Given the description of an element on the screen output the (x, y) to click on. 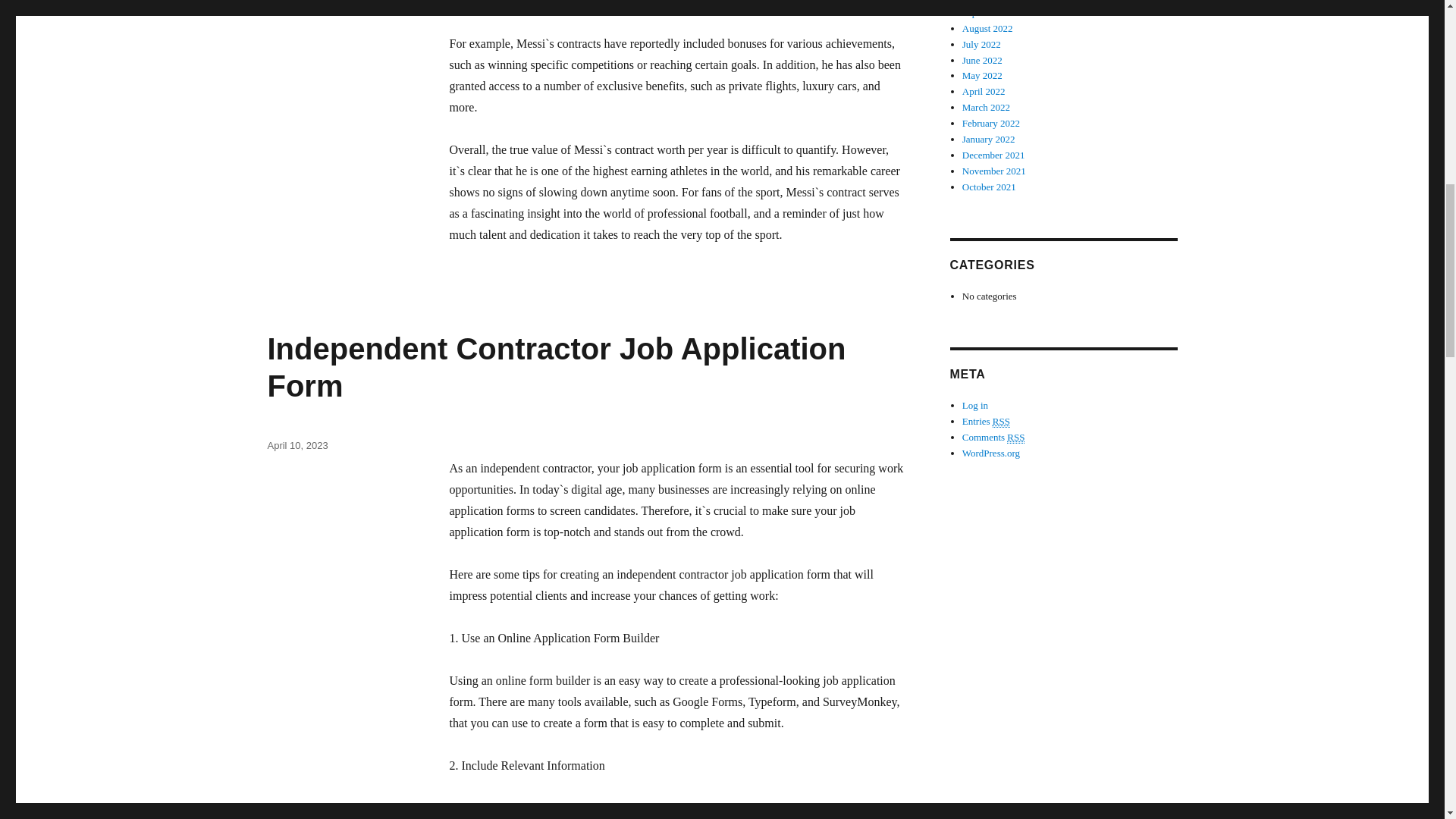
October 2022 (989, 1)
November 2021 (994, 170)
Independent Contractor Job Application Form (555, 367)
May 2022 (982, 75)
Really Simple Syndication (1001, 421)
July 2022 (981, 43)
January 2022 (988, 138)
March 2022 (986, 107)
February 2022 (991, 122)
